Given the description of an element on the screen output the (x, y) to click on. 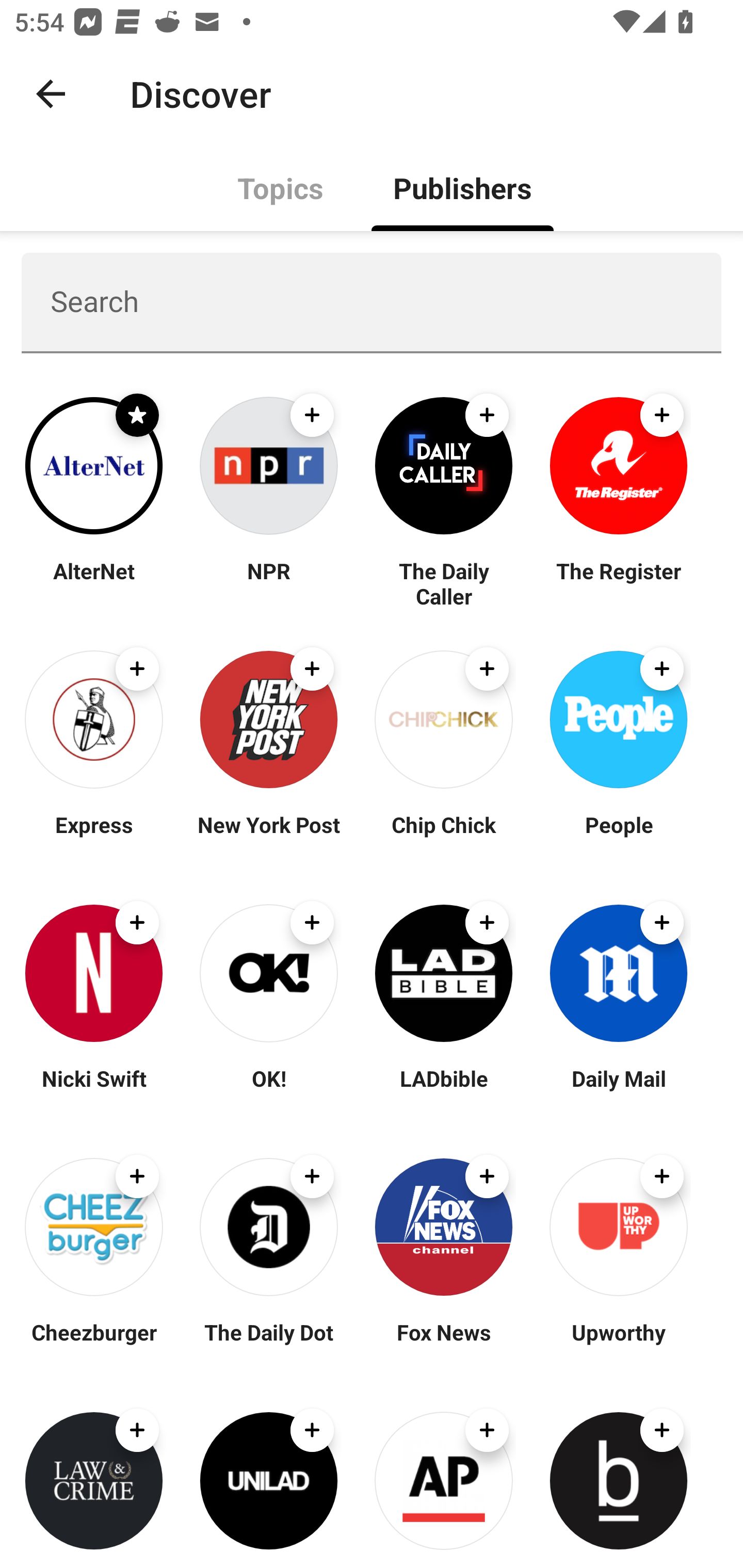
Topics (280, 187)
Search (371, 302)
AlterNet (93, 582)
NPR (268, 582)
The Daily Caller (443, 582)
The Register (618, 582)
Express (93, 836)
New York Post (268, 836)
Chip Chick (443, 836)
People (618, 836)
Nicki Swift (93, 1090)
OK! (268, 1090)
LADbible (443, 1090)
Daily Mail (618, 1090)
Cheezburger (93, 1344)
The Daily Dot (268, 1344)
Fox News (443, 1344)
Upworthy (618, 1344)
